Given the description of an element on the screen output the (x, y) to click on. 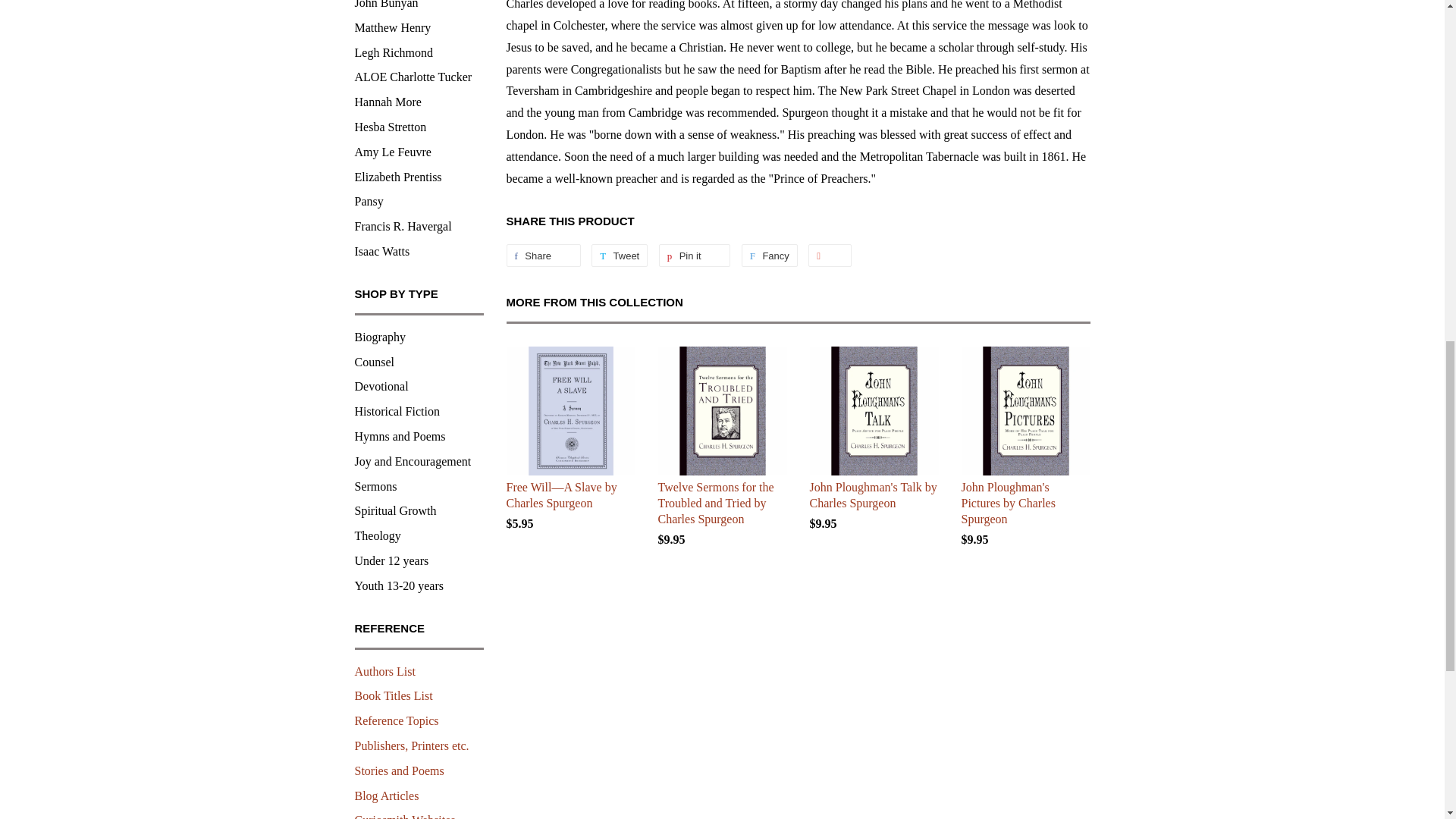
Pin on Pinterest (694, 255)
Add to Fancy (769, 255)
Book Titles List (393, 695)
Curiosmith Websites (405, 816)
Stories and Poetry (399, 770)
Blog Articles (387, 795)
Authors List (384, 671)
Share on Facebook (543, 255)
Tweet on Twitter (619, 255)
